Given the description of an element on the screen output the (x, y) to click on. 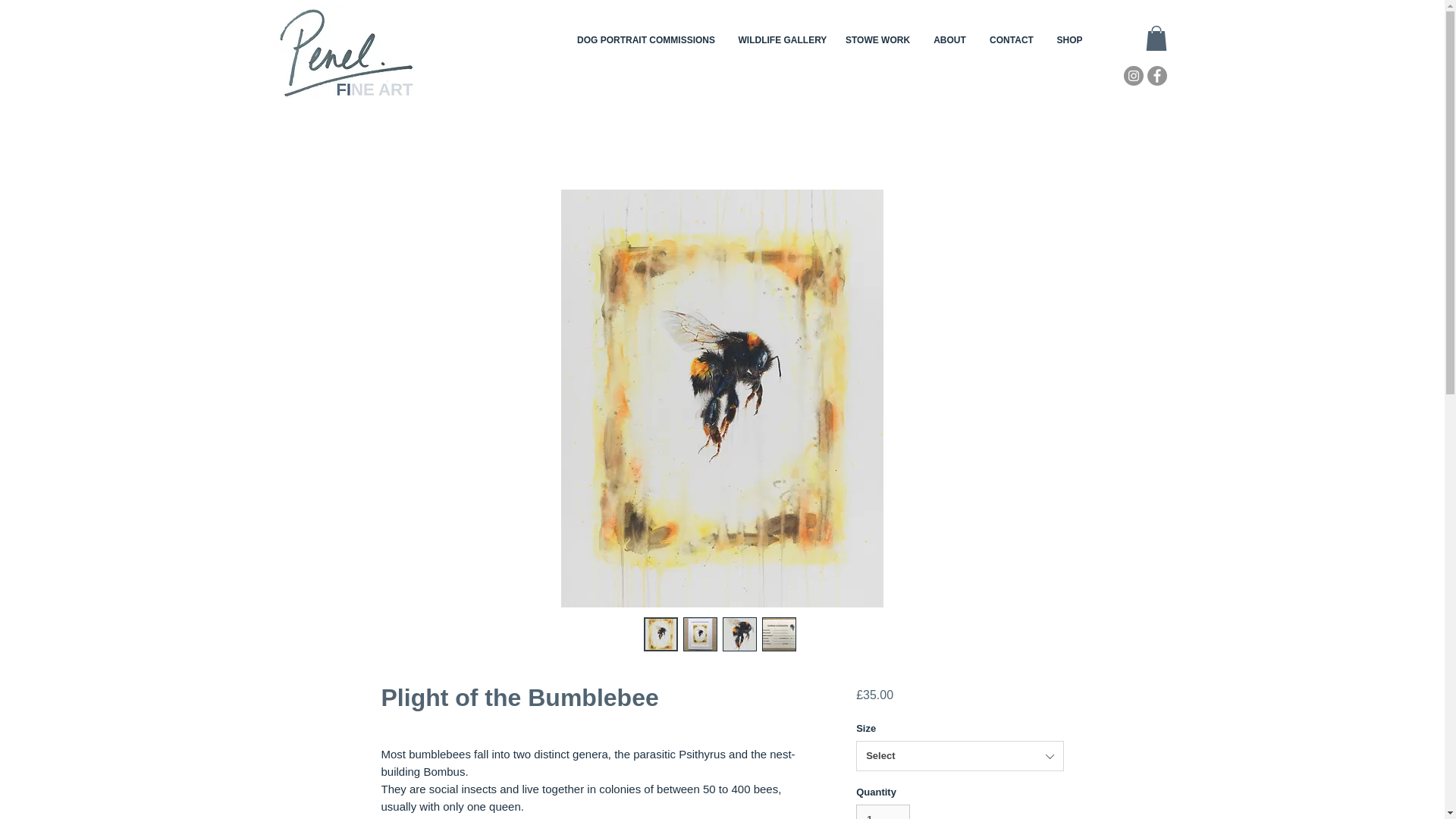
CONTACT (1011, 40)
Select (959, 756)
STOWE WORK (877, 40)
ABOUT (949, 40)
1 (883, 811)
DOG PORTRAIT COMMISSIONS (646, 40)
SHOP (1069, 40)
WILDLIFE GALLERY (779, 40)
